Given the description of an element on the screen output the (x, y) to click on. 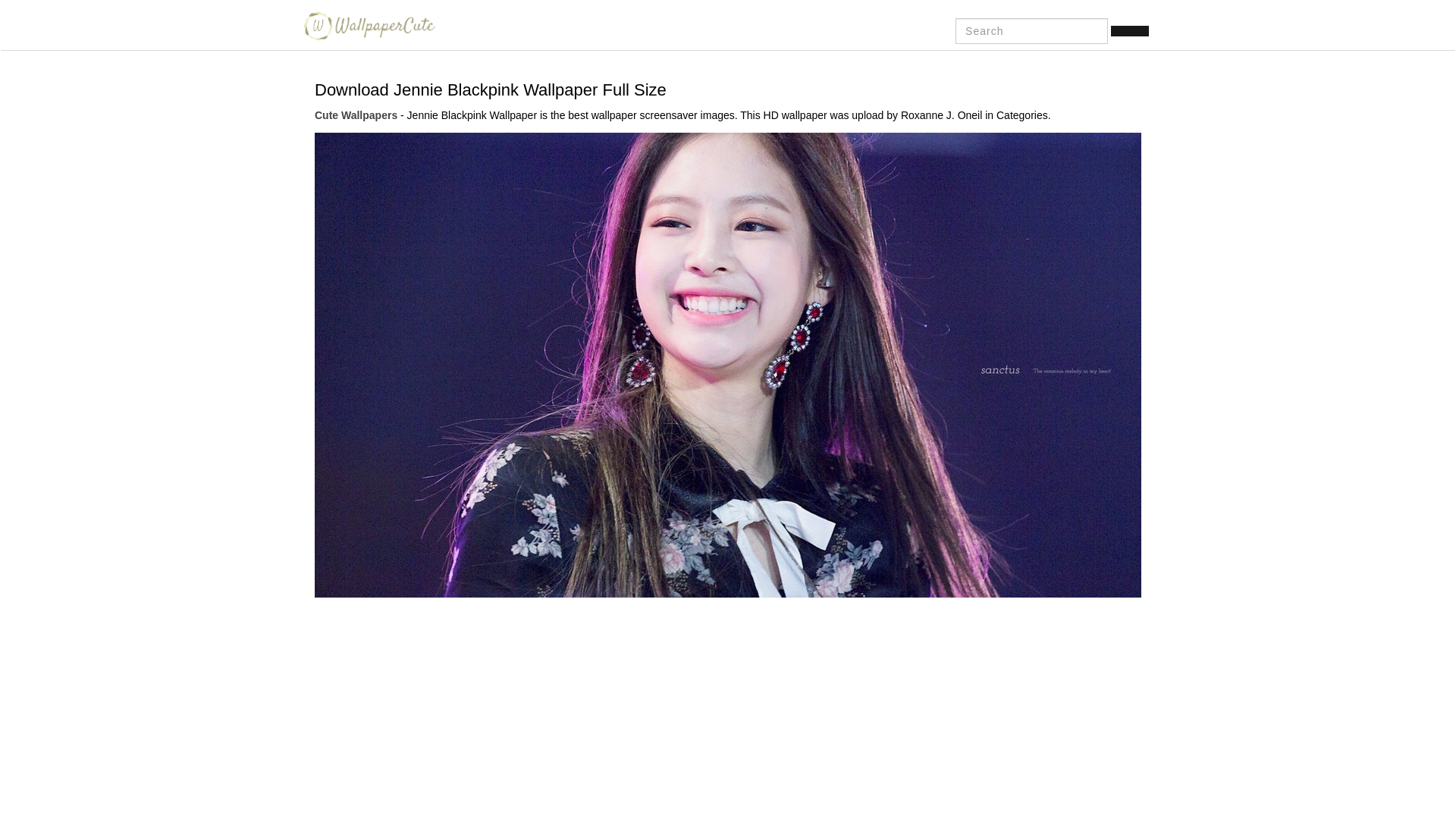
Search for: (1031, 31)
Cute Wallpapers (365, 26)
Cute Wallpapers (355, 114)
Jennie Blackpink Wallpaper (727, 363)
